Given the description of an element on the screen output the (x, y) to click on. 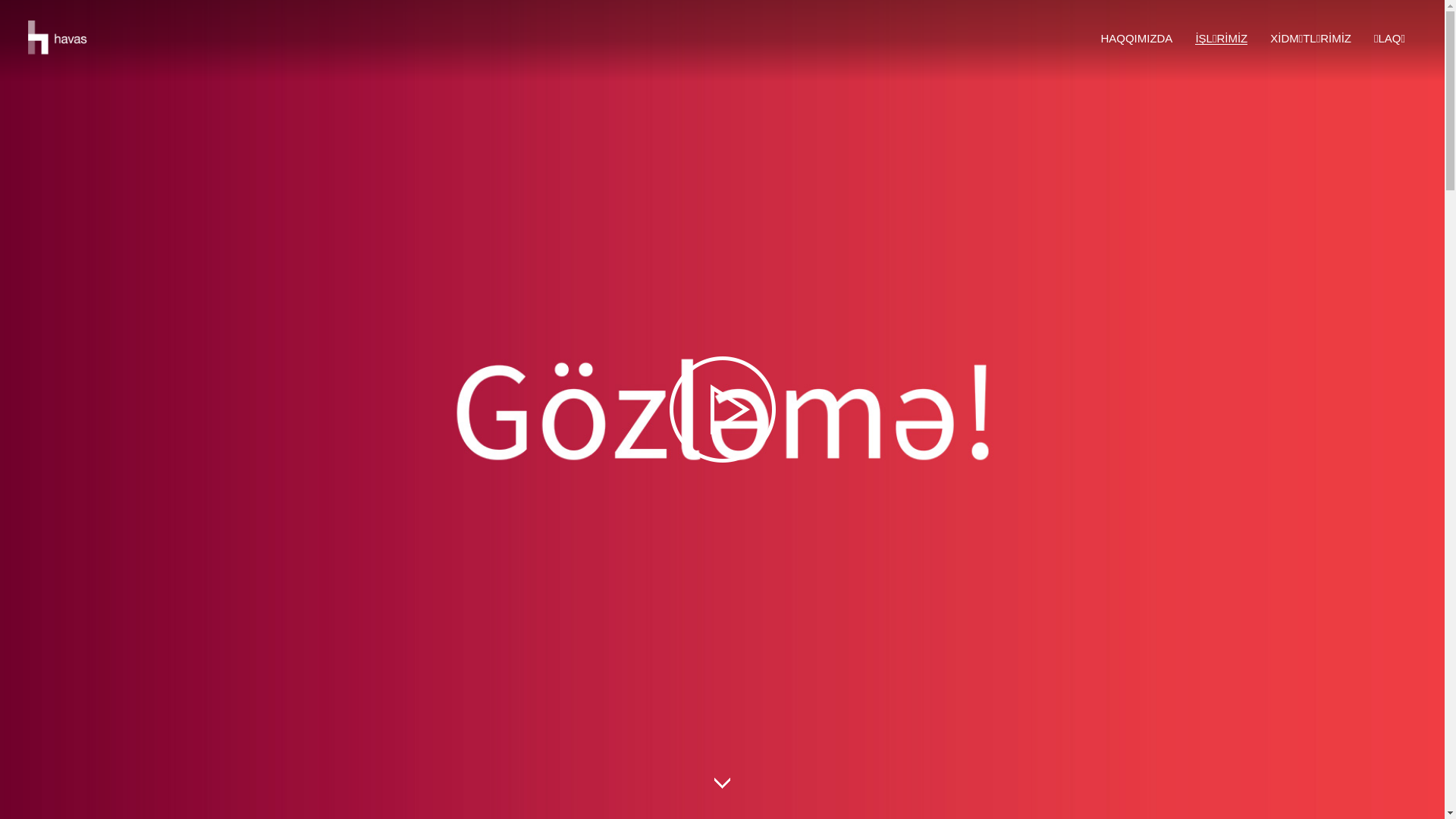
HAQQIMIZDA Element type: text (1136, 37)
